Given the description of an element on the screen output the (x, y) to click on. 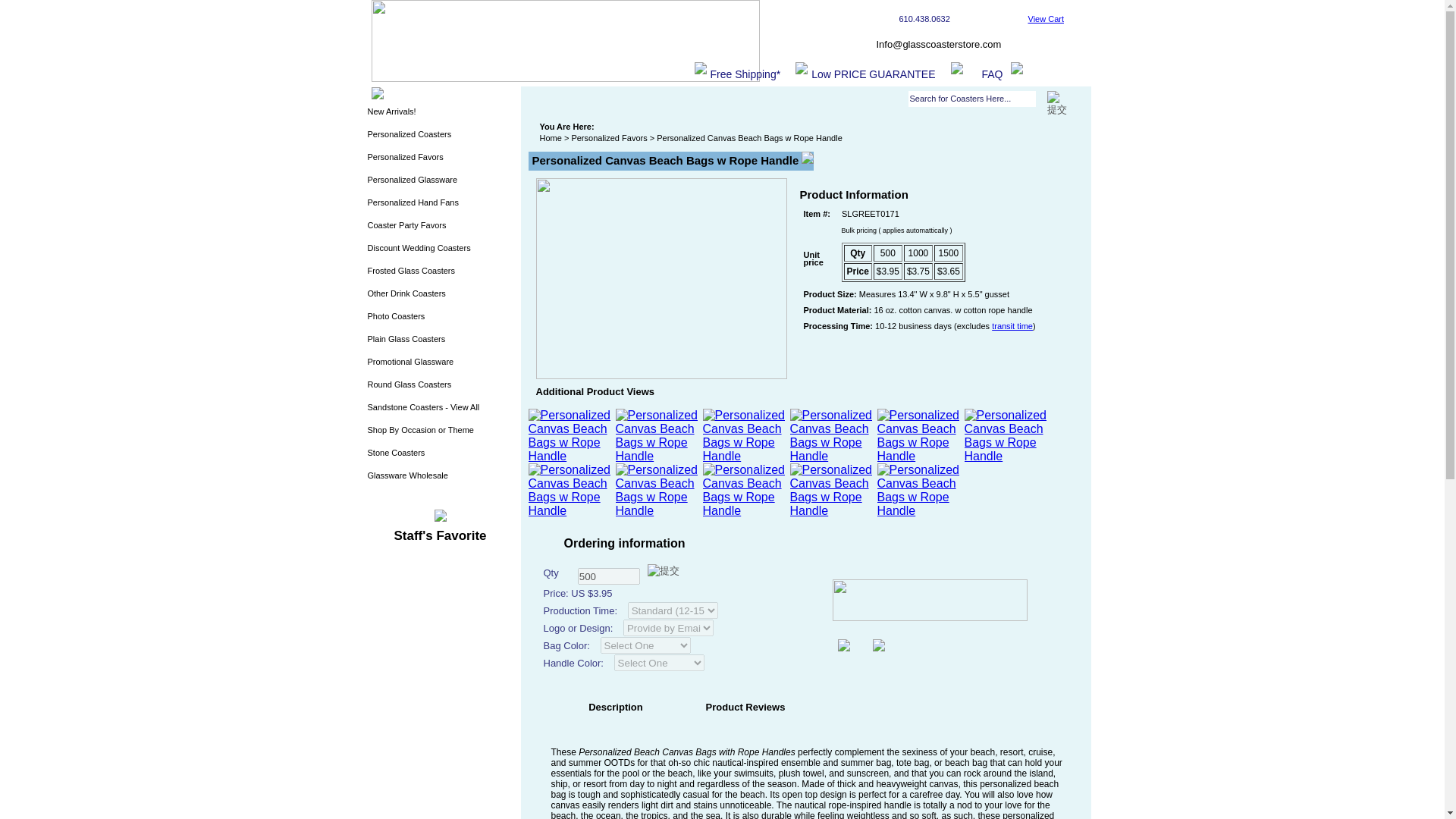
Personalized Glassware (438, 182)
Photo Coasters (438, 318)
Glassware Wholesale (438, 477)
Round Glass Coasters (438, 386)
Stone Coasters (438, 455)
Other Drink Coasters (438, 296)
Low PRICE GUARANTEE (872, 73)
Sandstone Coasters - View All (438, 409)
Shop By Occasion or Theme (438, 432)
Personalized Favors (438, 159)
Personalized Favors (608, 137)
Promotional Glassware (438, 363)
Personalized Coasters (438, 137)
Personalized Favors (608, 137)
Discount Wedding Coasters (438, 250)
